Given the description of an element on the screen output the (x, y) to click on. 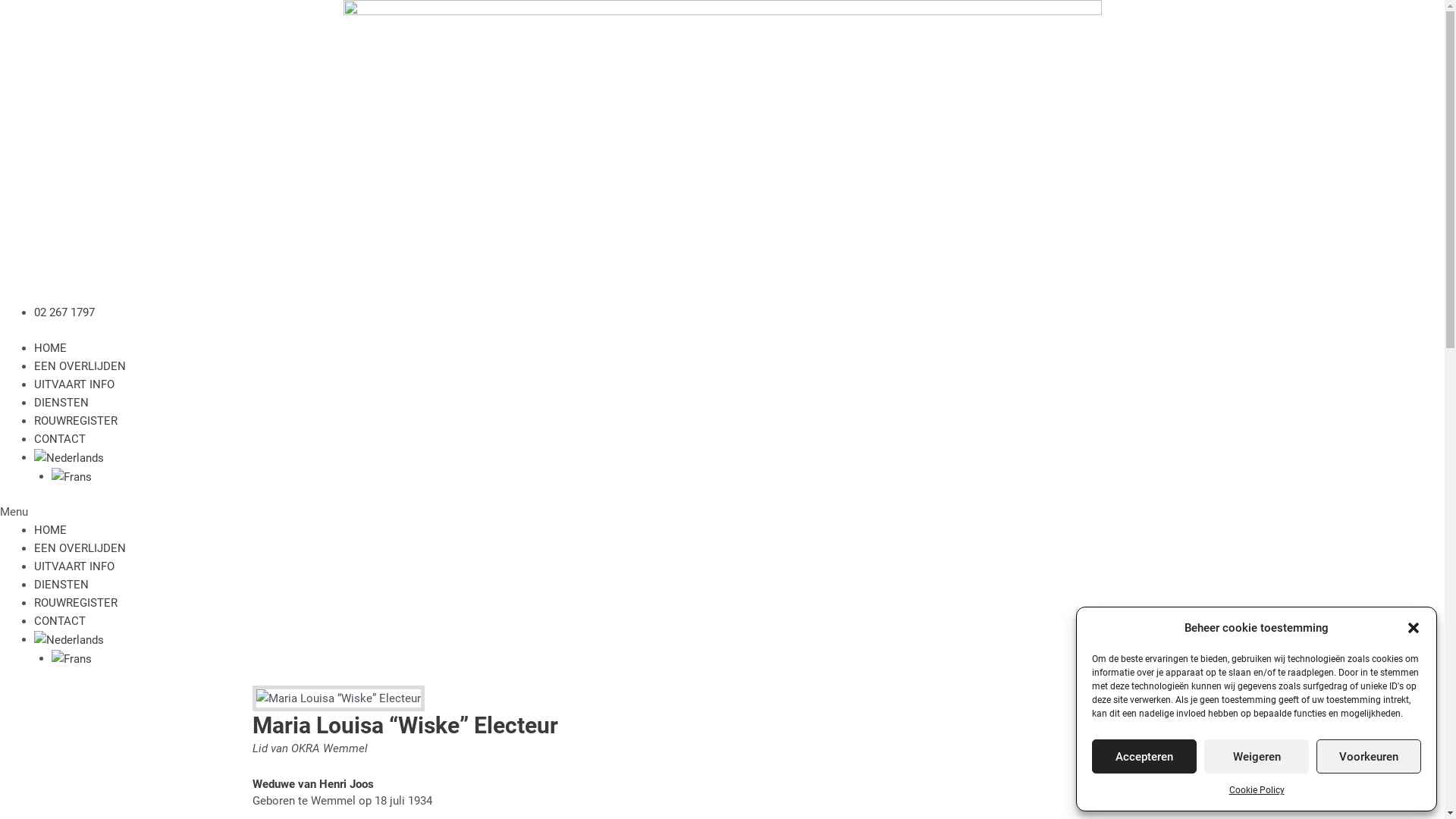
CONTACT Element type: text (59, 620)
HOME Element type: text (50, 529)
Weigeren Element type: text (1256, 756)
HOME Element type: text (50, 347)
Cookie Policy Element type: text (1255, 790)
Voorkeuren Element type: text (1368, 756)
EEN OVERLIJDEN Element type: text (79, 548)
UITVAART INFO Element type: text (74, 384)
UITVAART INFO Element type: text (74, 566)
ROUWREGISTER Element type: text (75, 420)
CONTACT Element type: text (59, 438)
DIENSTEN Element type: text (61, 584)
ROUWREGISTER Element type: text (75, 602)
02 267 1797 Element type: text (64, 312)
Accepteren Element type: text (1144, 756)
EEN OVERLIJDEN Element type: text (79, 366)
DIENSTEN Element type: text (61, 402)
